Given the description of an element on the screen output the (x, y) to click on. 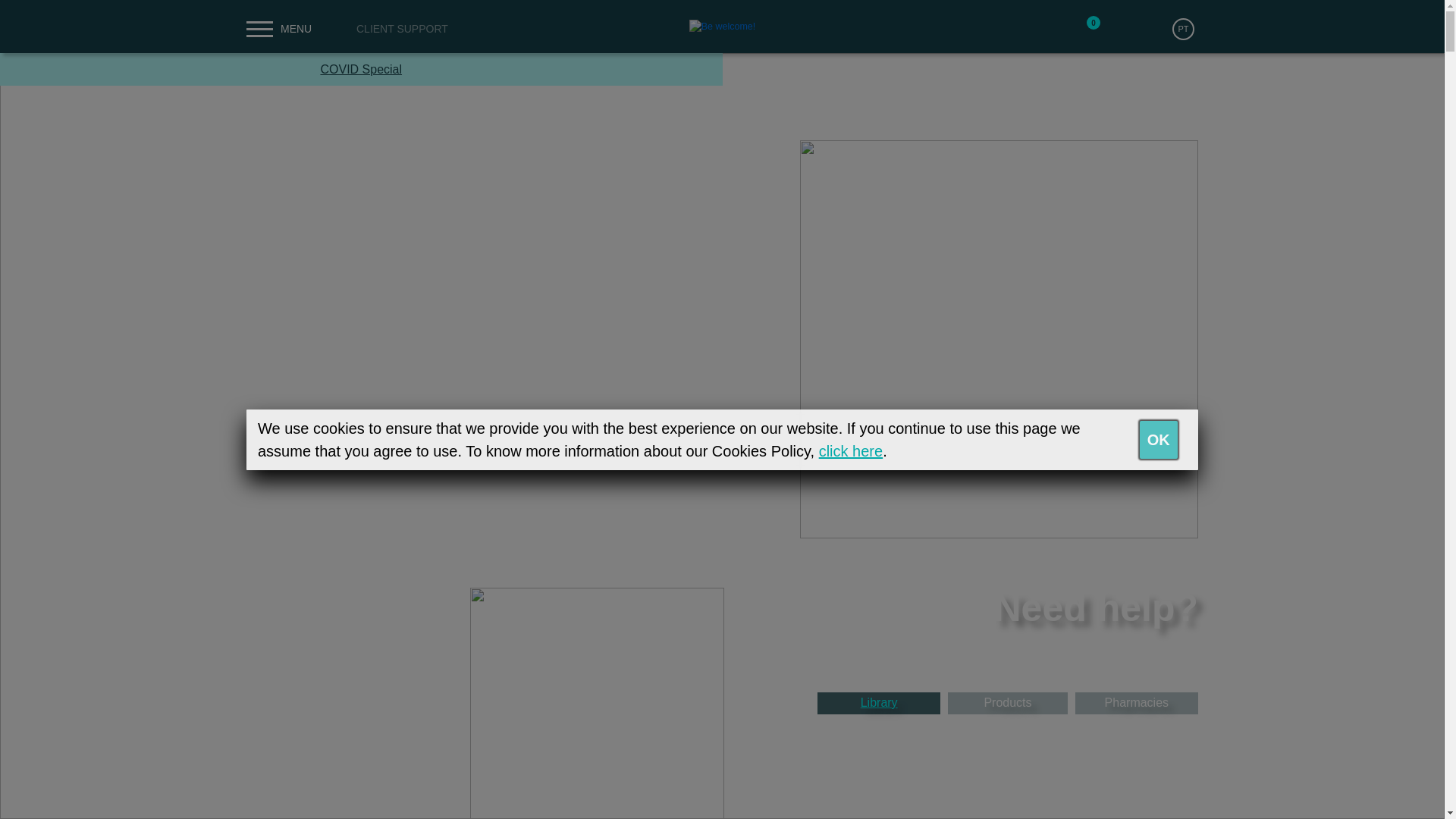
Be welcome! (721, 26)
Client support (339, 28)
Be welcome! (721, 25)
CLIENT SUPPORT (339, 28)
